Given the description of an element on the screen output the (x, y) to click on. 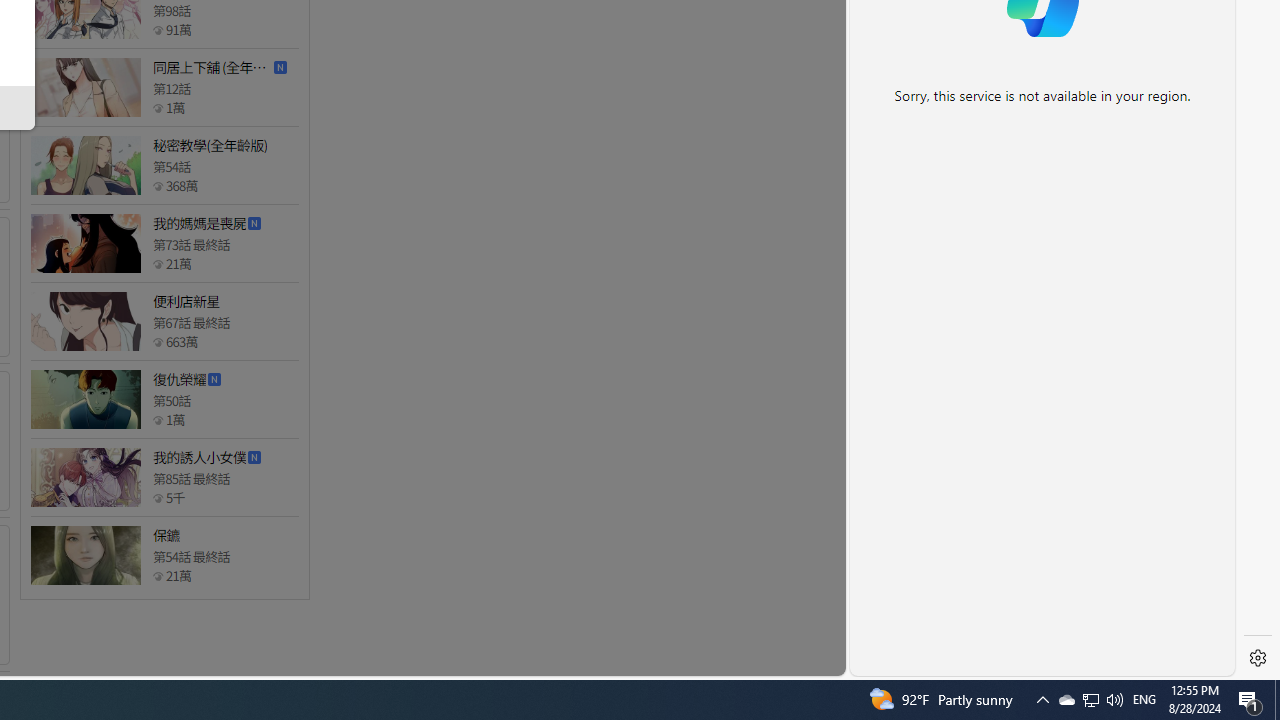
Settings (1258, 658)
Class: epicon_starpoint (158, 575)
Class: thumb_img (85, 555)
